Given the description of an element on the screen output the (x, y) to click on. 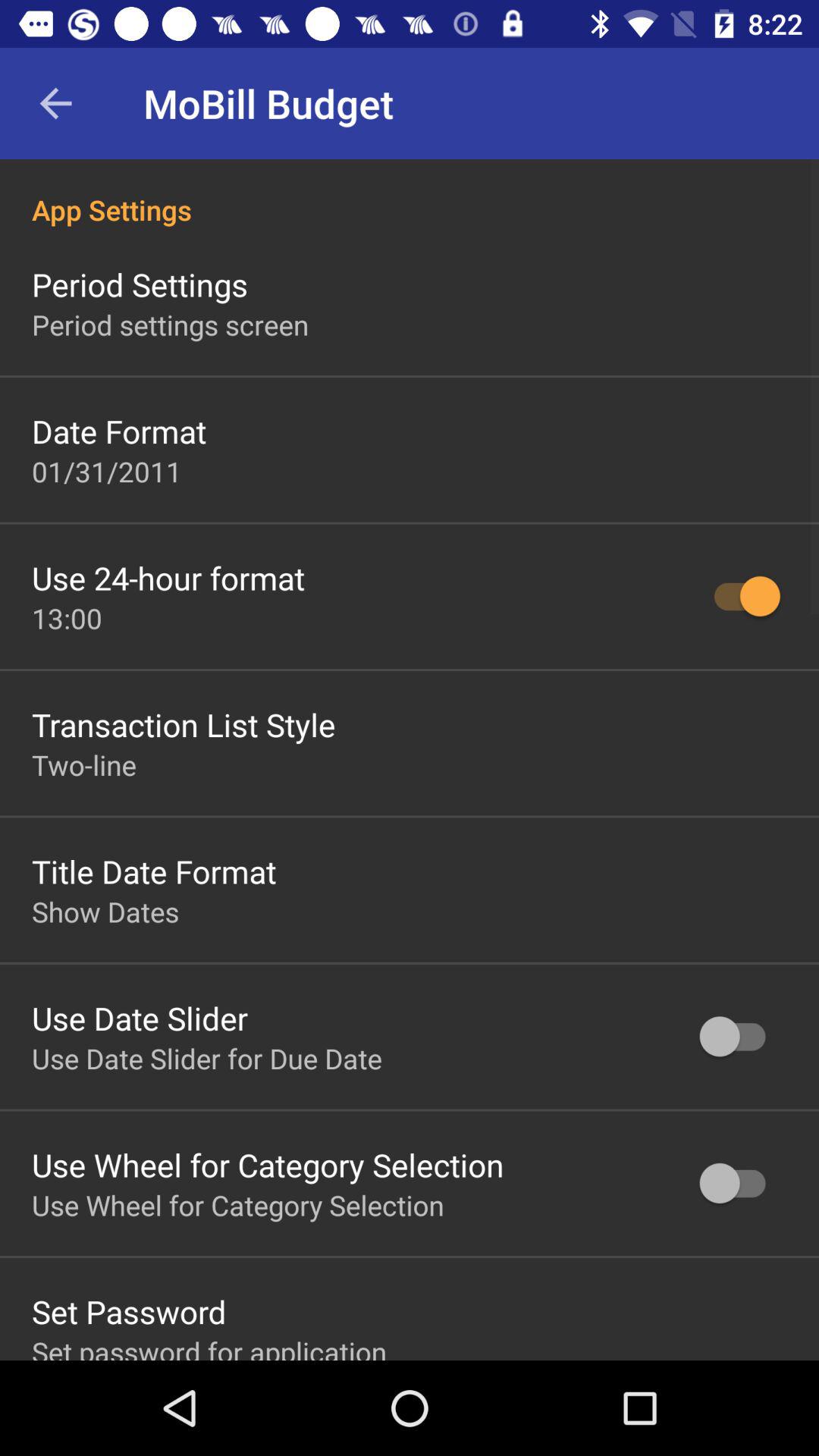
go back (55, 103)
